Given the description of an element on the screen output the (x, y) to click on. 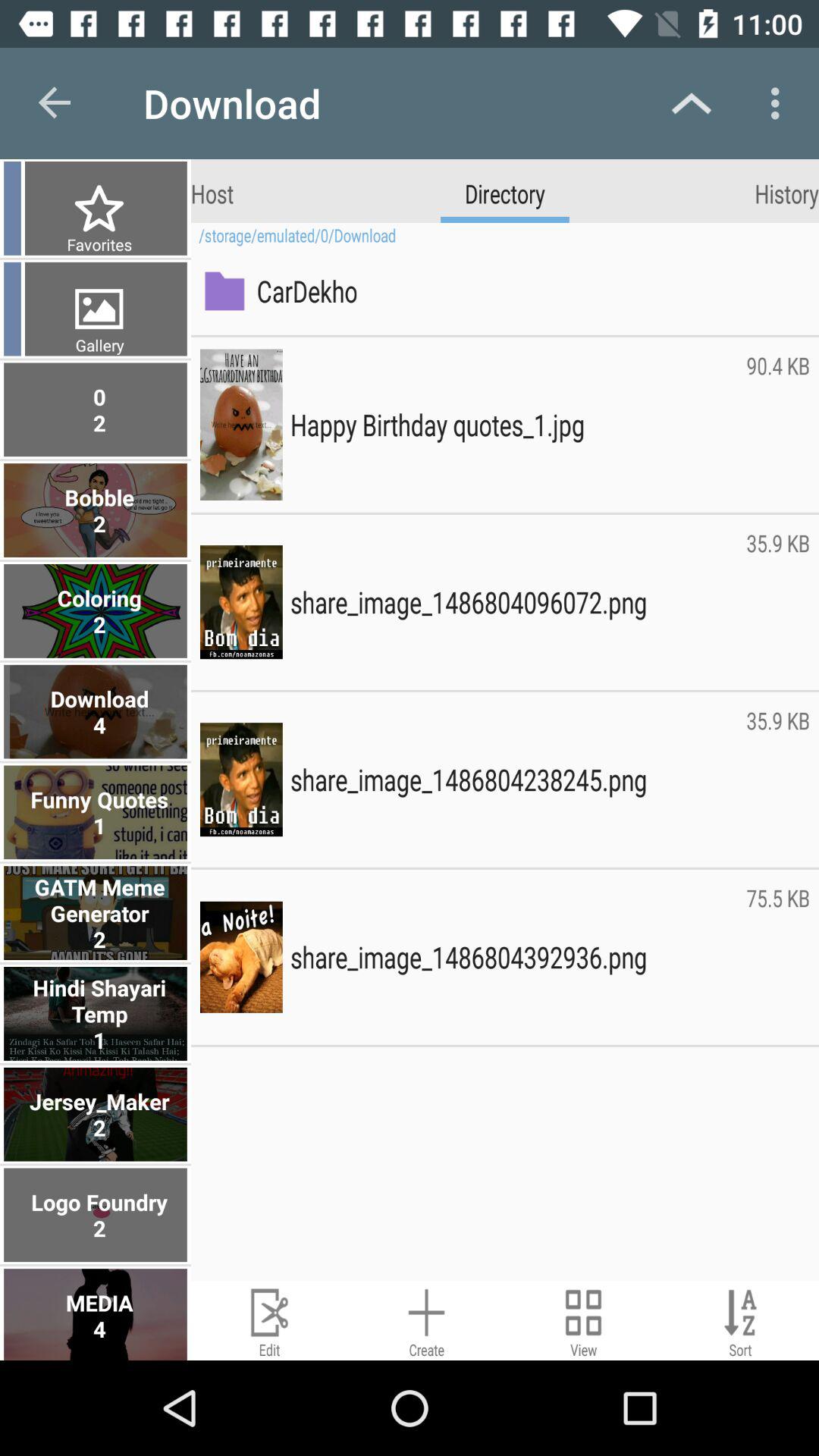
press the app to the left of the directory item (212, 193)
